Given the description of an element on the screen output the (x, y) to click on. 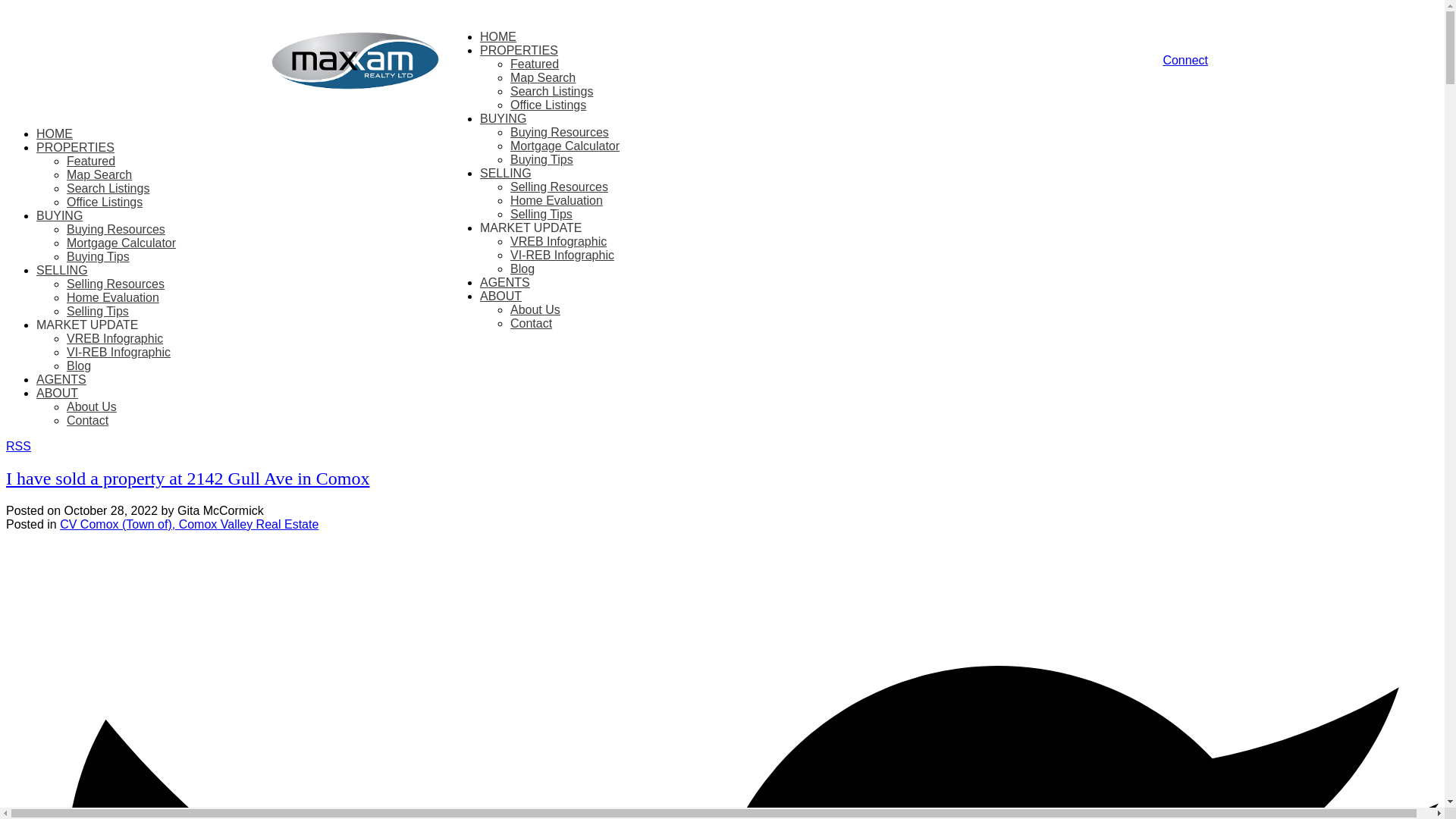
Blog (522, 268)
Search Listings (107, 187)
Buying Resources (115, 228)
Connect (1184, 60)
Mortgage Calculator (565, 145)
Buying Tips (97, 256)
About Us (535, 309)
Search Listings (551, 91)
VI-REB Infographic (118, 351)
Map Search (99, 174)
